Given the description of an element on the screen output the (x, y) to click on. 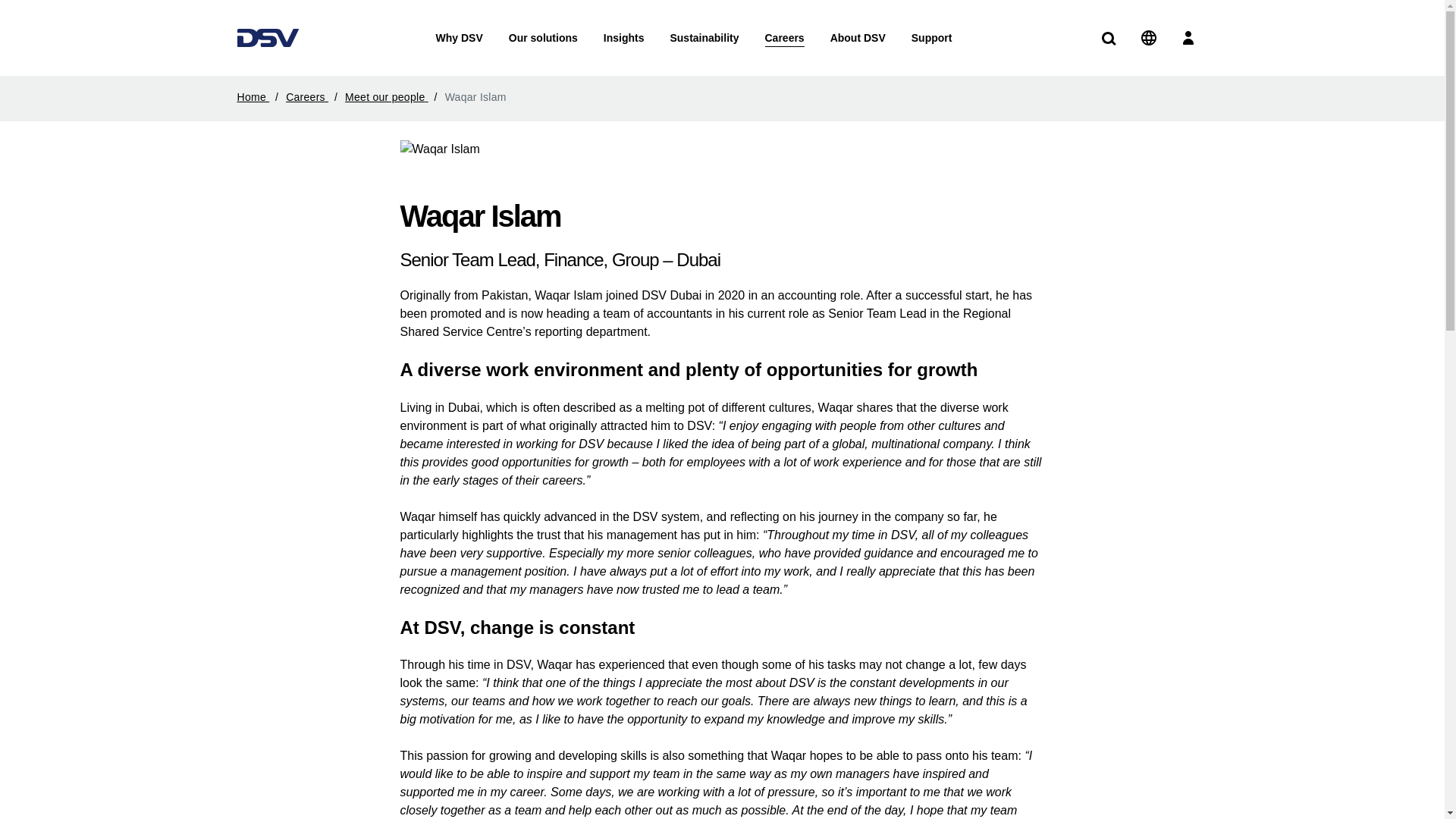
Meet our people (394, 97)
About DSV (857, 38)
Careers (314, 97)
Our solutions (543, 38)
Why DSV (459, 38)
Home (259, 97)
Sustainability (703, 38)
